Given the description of an element on the screen output the (x, y) to click on. 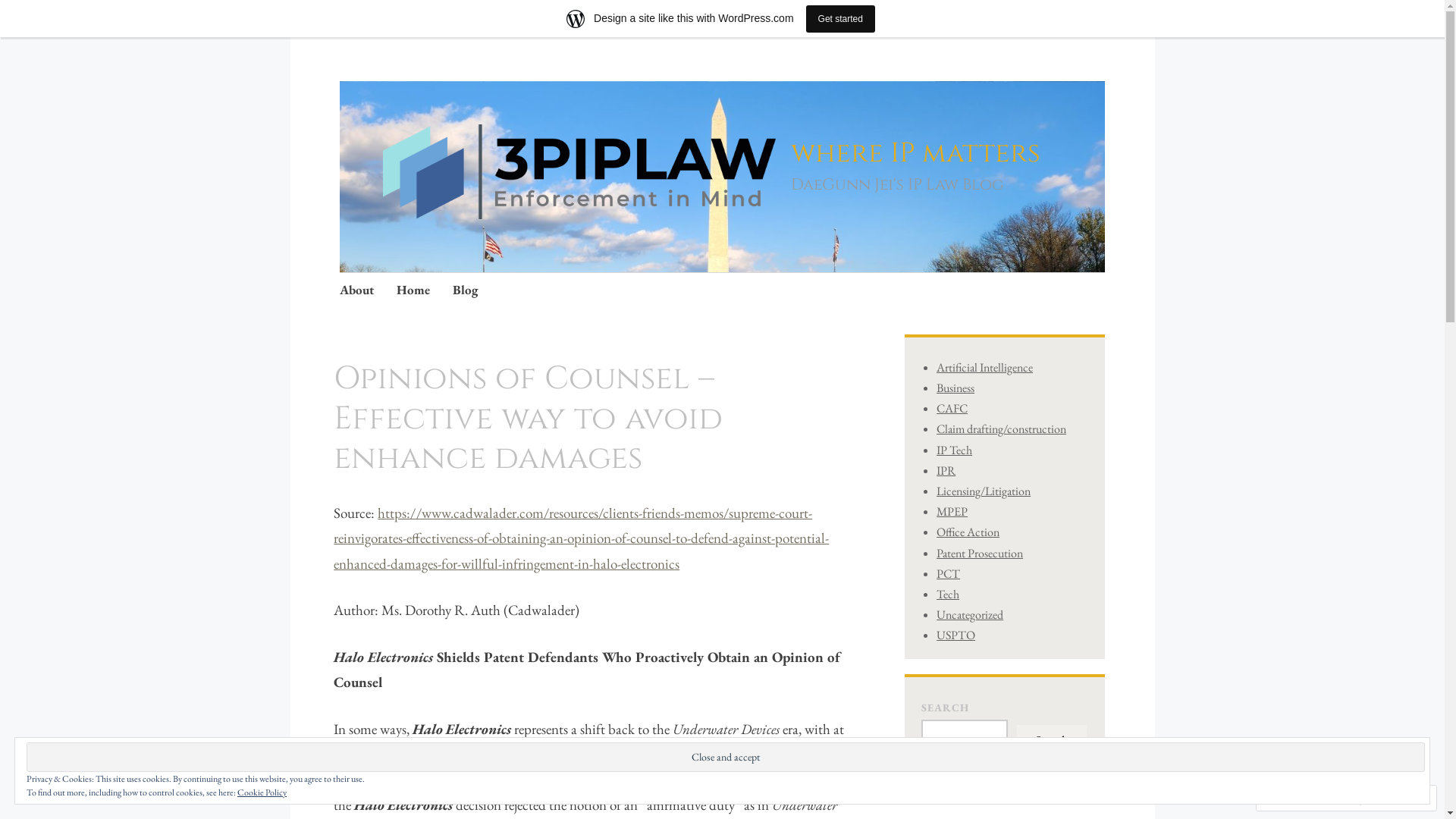
Cookie Policy Element type: text (261, 792)
Get started Element type: text (840, 17)
IPR Element type: text (945, 470)
Office Action Element type: text (967, 531)
Uncategorized Element type: text (969, 614)
Comment Element type: text (1296, 797)
PCT Element type: text (948, 573)
Close and accept Element type: text (725, 756)
Claim drafting/construction Element type: text (1001, 428)
Search Element type: text (1051, 740)
USPTO Element type: text (955, 635)
MPEP Element type: text (951, 511)
IP Tech Element type: text (954, 450)
DAEGUNN JEI Element type: text (366, 366)
Blog Element type: text (465, 290)
Artificial Intelligence Element type: text (984, 367)
where IP matters Element type: text (915, 152)
Tech Element type: text (947, 594)
NOVEMBER 17, 2020 Element type: text (369, 372)
About Element type: text (356, 290)
Licensing/Litigation Element type: text (983, 490)
Follow Element type: text (1372, 797)
Patent Prosecution Element type: text (979, 552)
Business Element type: text (955, 387)
Home Element type: text (412, 290)
CAFC Element type: text (951, 408)
